Given the description of an element on the screen output the (x, y) to click on. 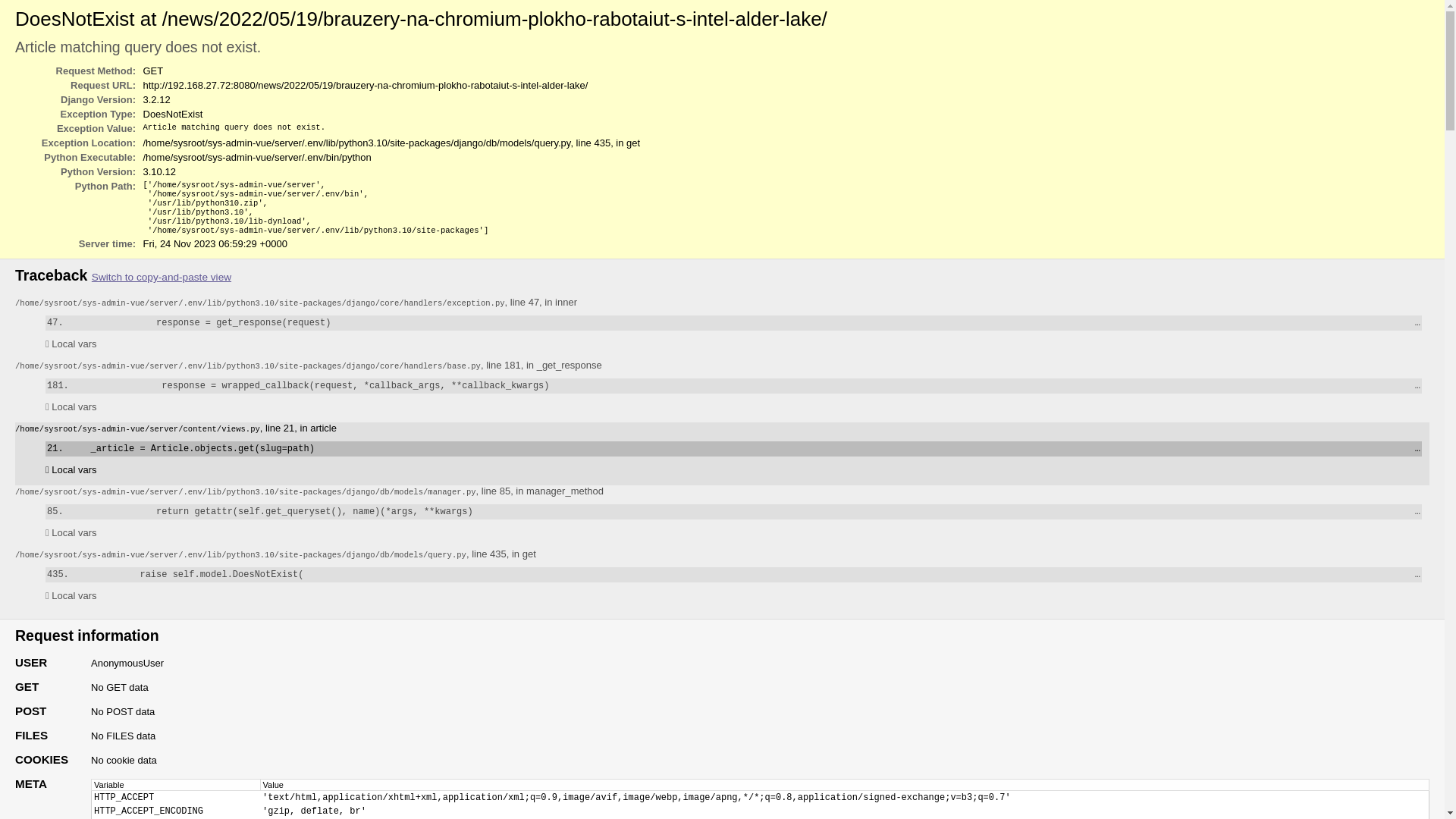
Switch to copy-and-paste view Element type: text (161, 276)
